Given the description of an element on the screen output the (x, y) to click on. 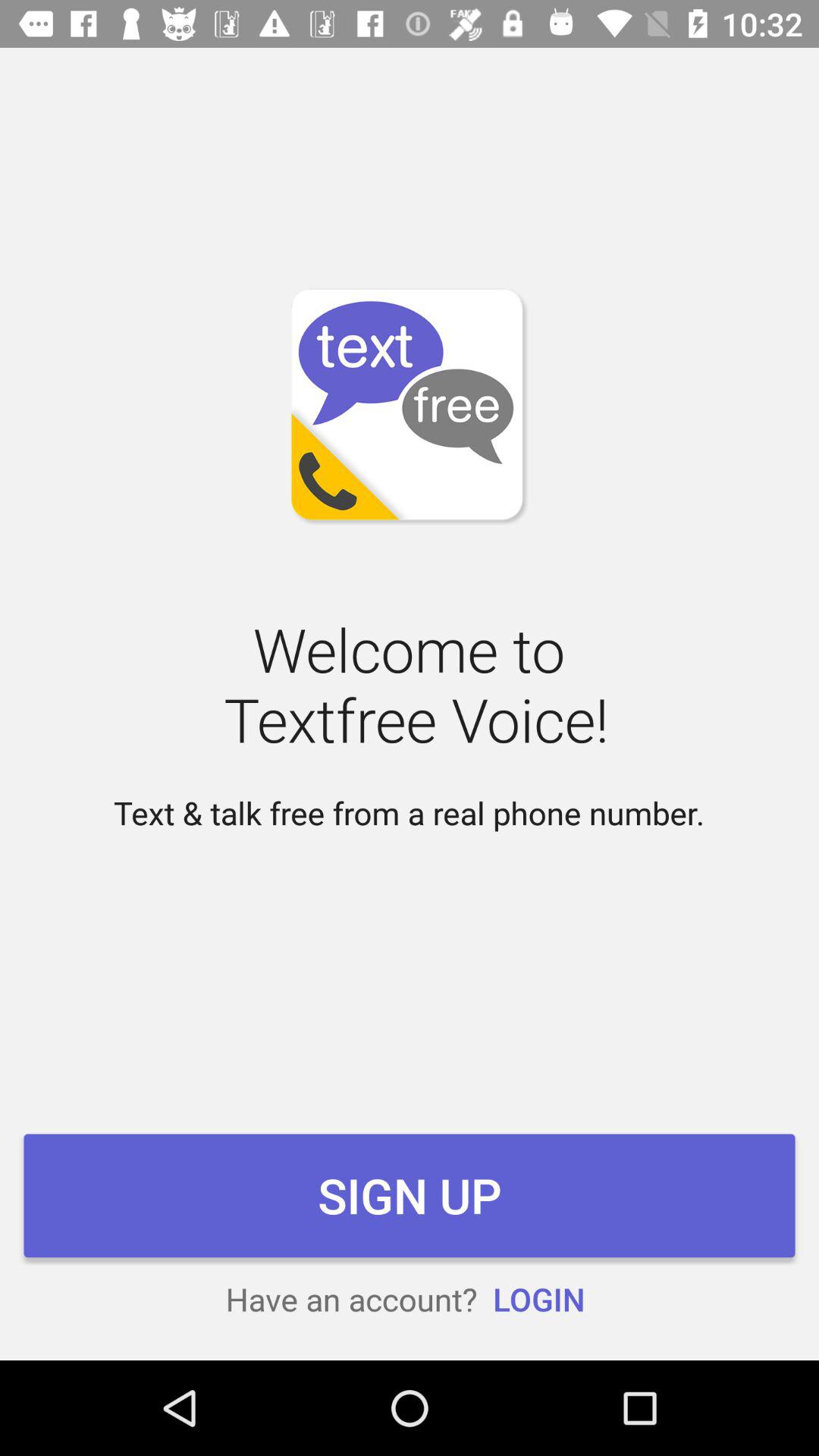
choose login (539, 1298)
